Given the description of an element on the screen output the (x, y) to click on. 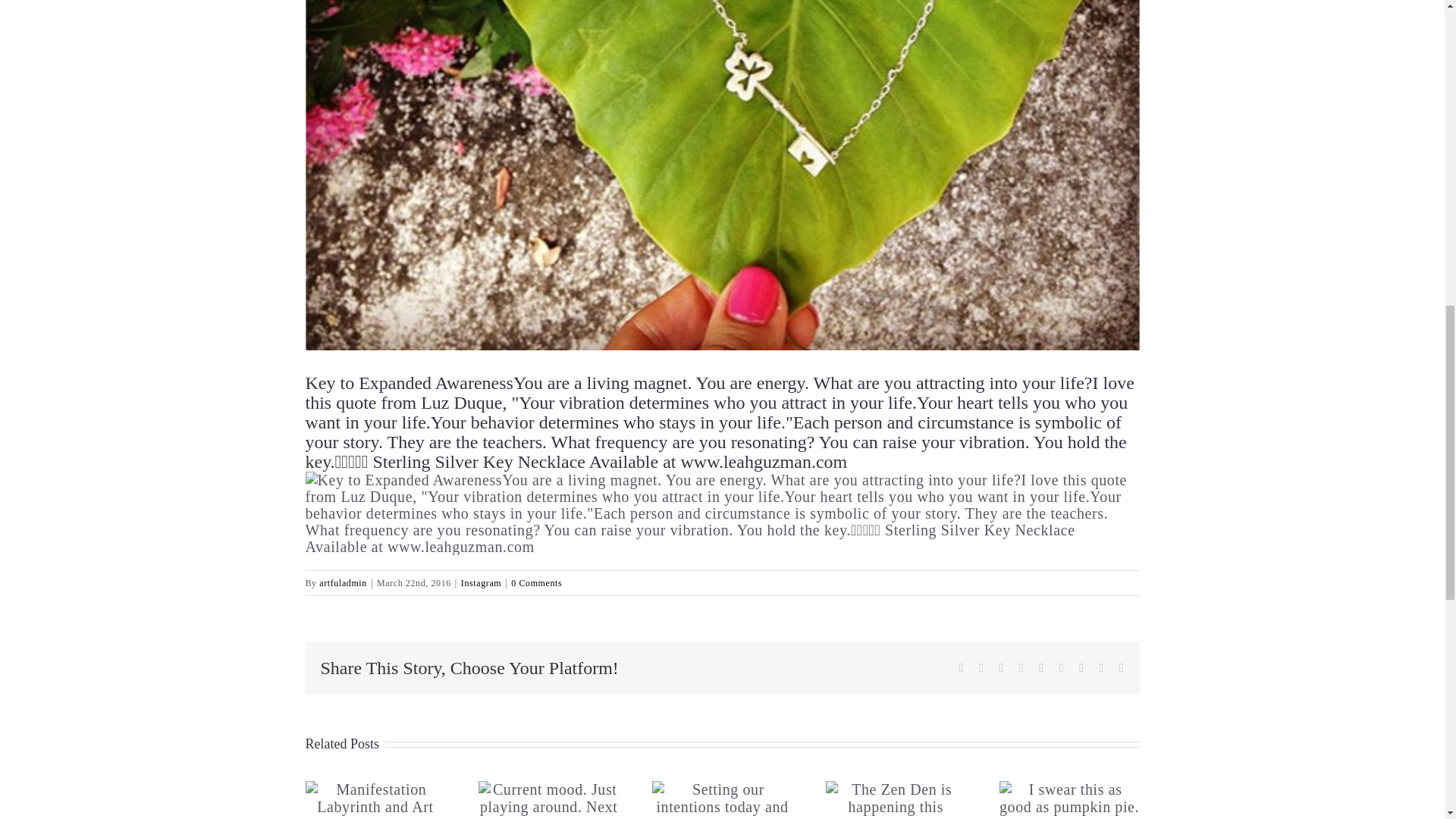
Instagram (480, 583)
0 Comments (536, 583)
artfuladmin (342, 583)
Posts by artfuladmin (342, 583)
